Given the description of an element on the screen output the (x, y) to click on. 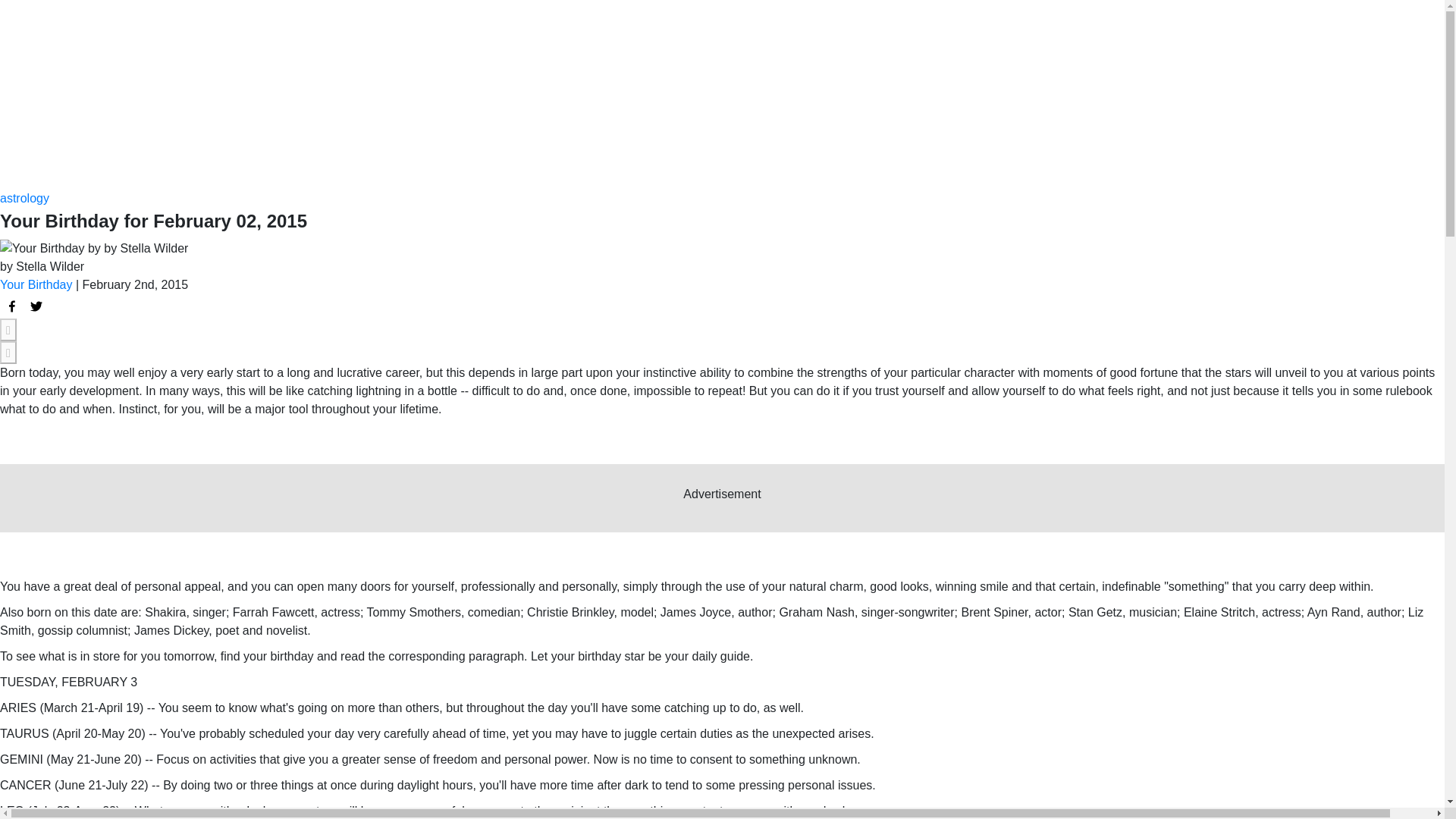
Your Birthday for February 02, 2015 (12, 306)
Your Birthday (35, 284)
astrology (24, 197)
